Given the description of an element on the screen output the (x, y) to click on. 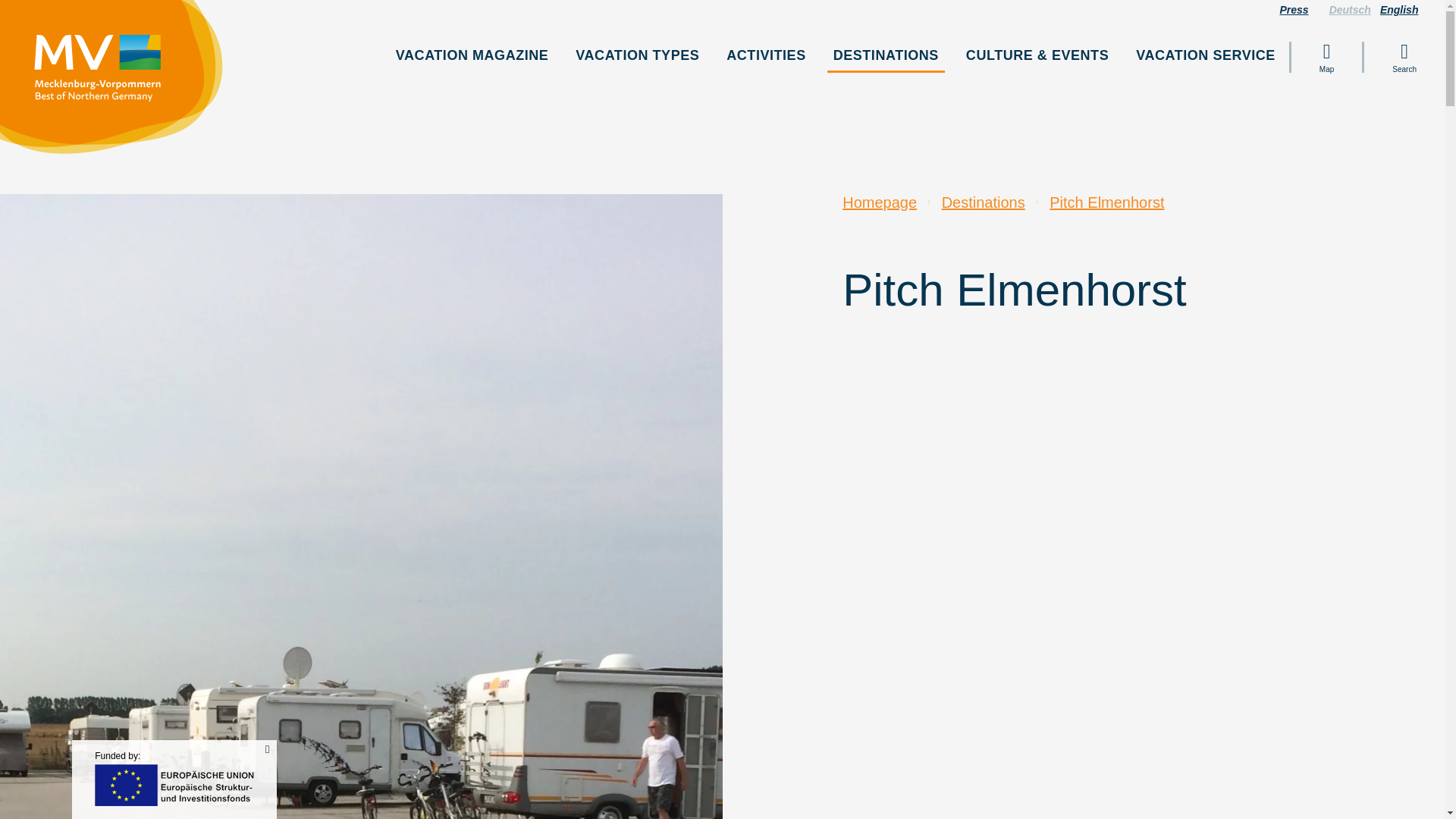
To the home page (119, 82)
VACATION MAGAZINE (472, 55)
